Given the description of an element on the screen output the (x, y) to click on. 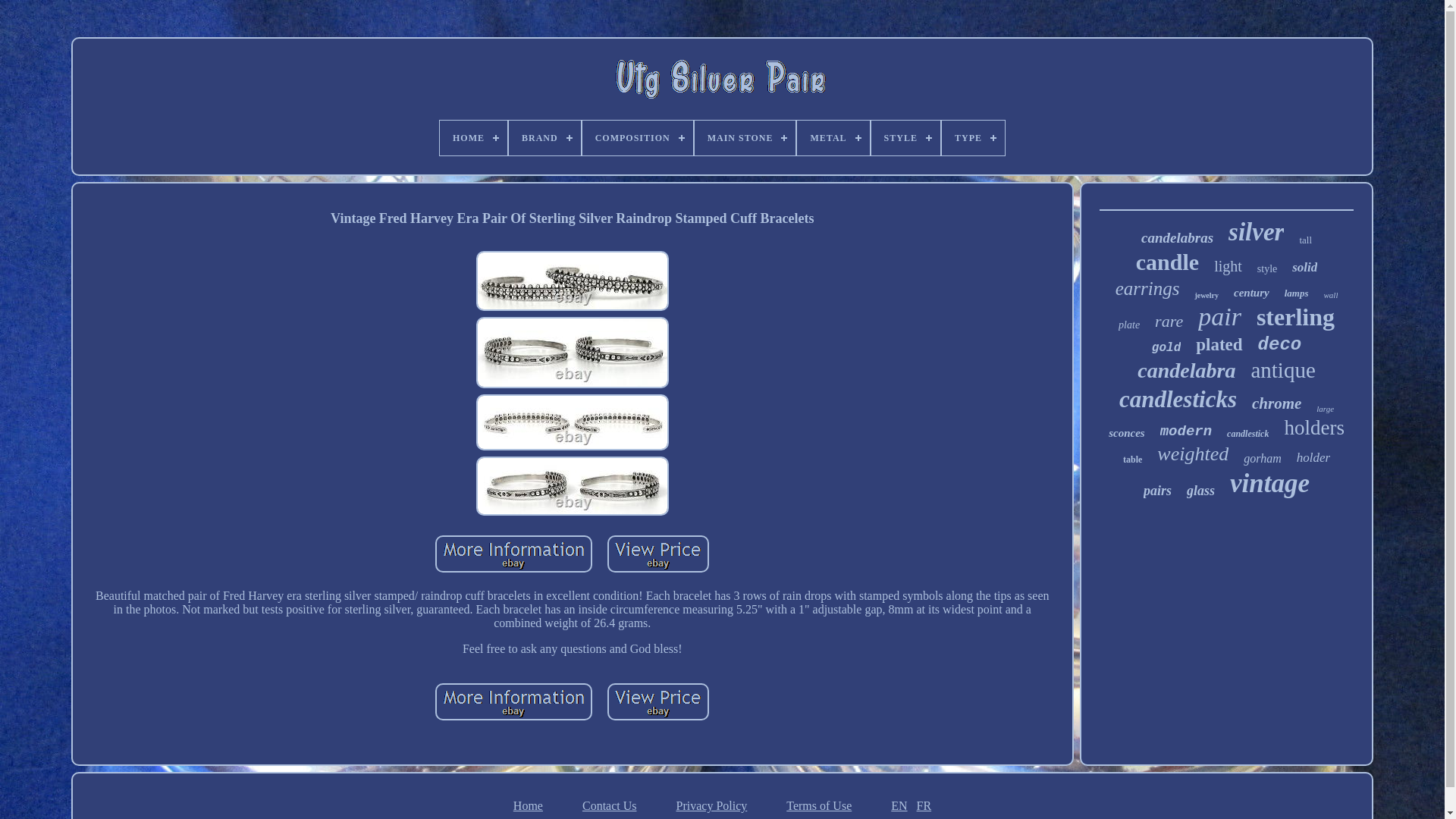
HOME (472, 137)
BRAND (544, 137)
